Given the description of an element on the screen output the (x, y) to click on. 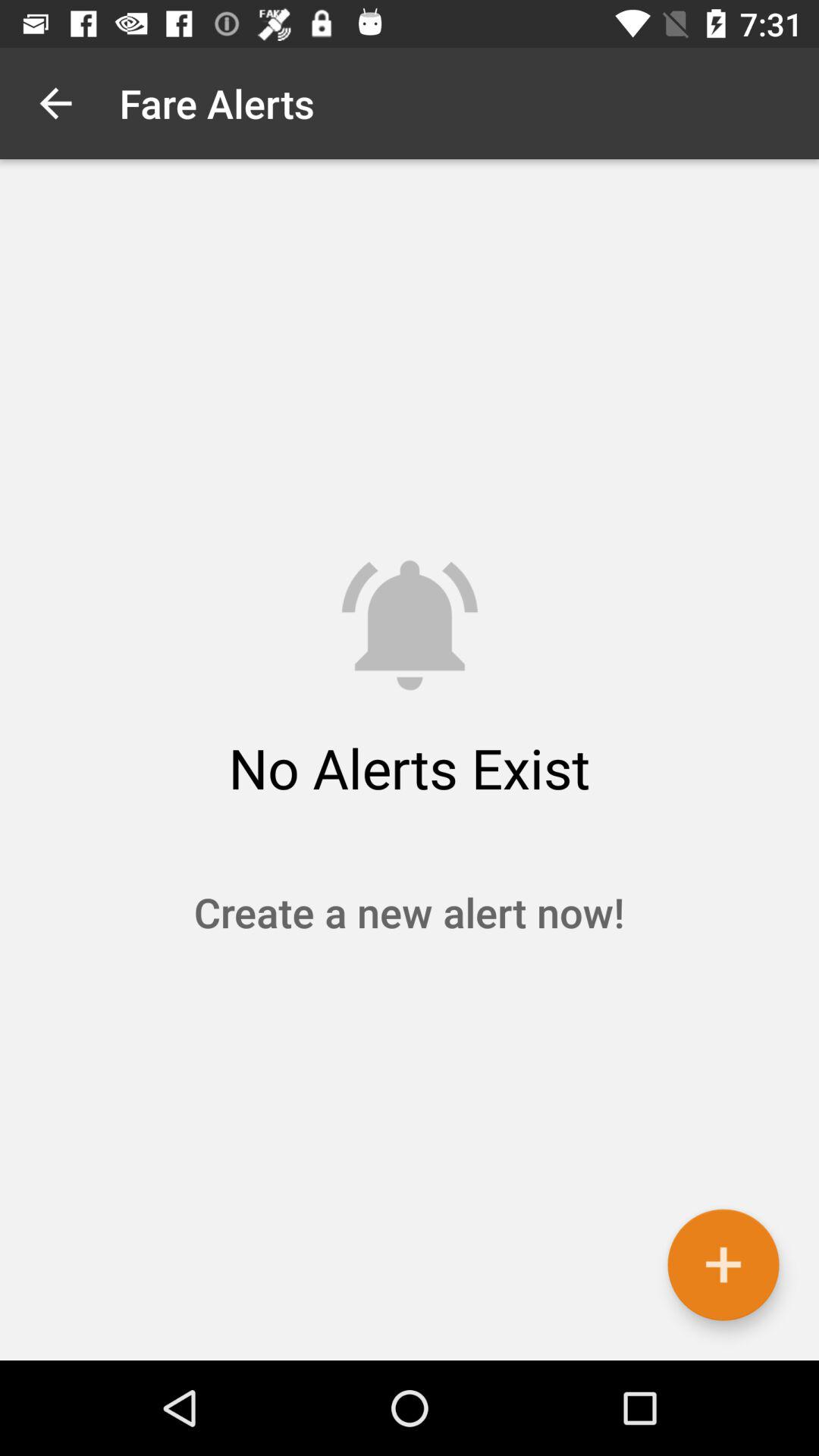
turn on the item at the bottom right corner (723, 1264)
